Given the description of an element on the screen output the (x, y) to click on. 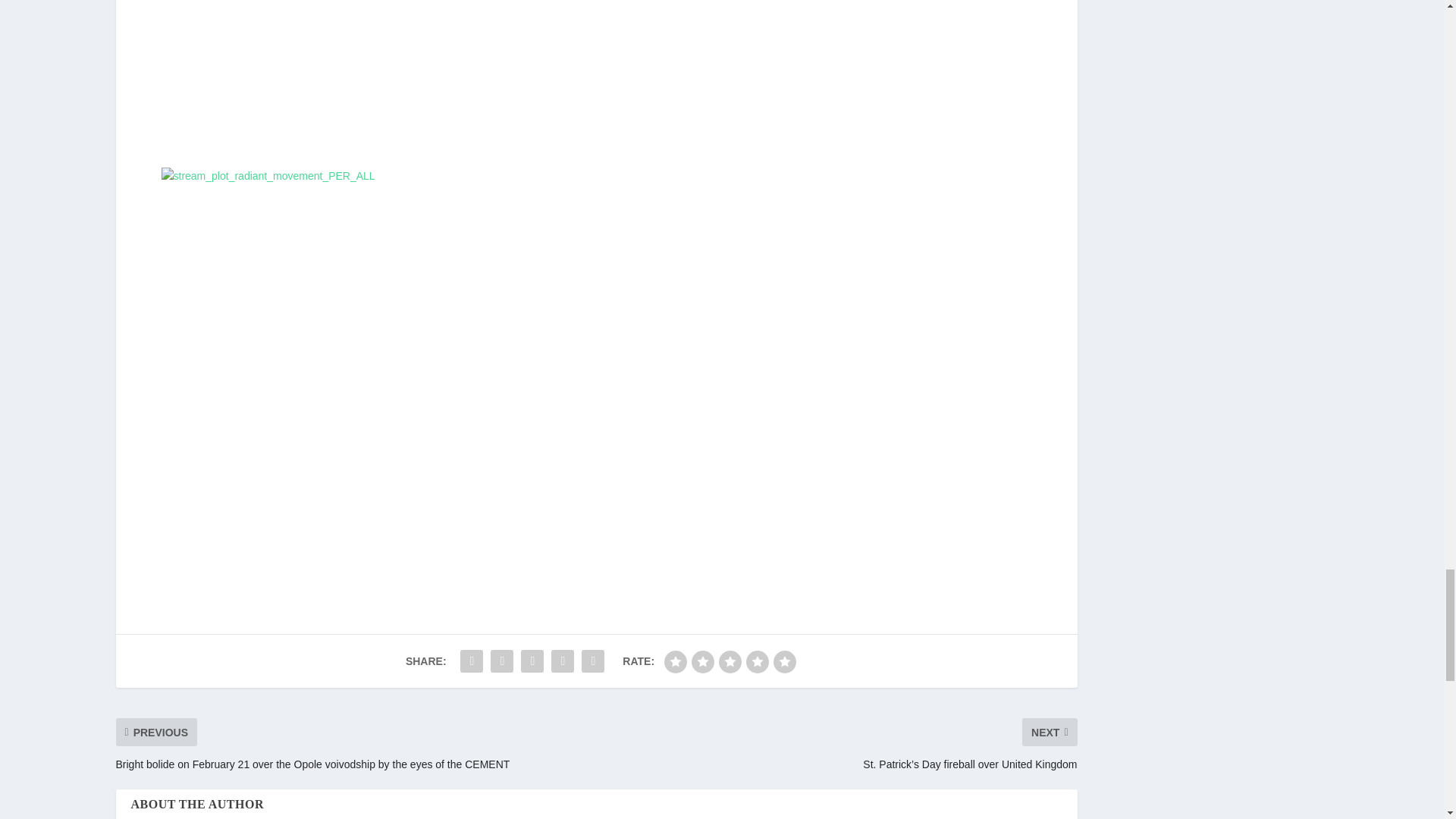
gorgeous (784, 661)
Share "Using R to analyse your meteor data" via Facebook (471, 661)
Share "Using R to analyse your meteor data" via Pinterest (531, 661)
bad (675, 661)
Share "Using R to analyse your meteor data" via Print (593, 661)
regular (730, 661)
Share "Using R to analyse your meteor data" via Email (562, 661)
Share "Using R to analyse your meteor data" via Twitter (501, 661)
good (756, 661)
poor (702, 661)
